Given the description of an element on the screen output the (x, y) to click on. 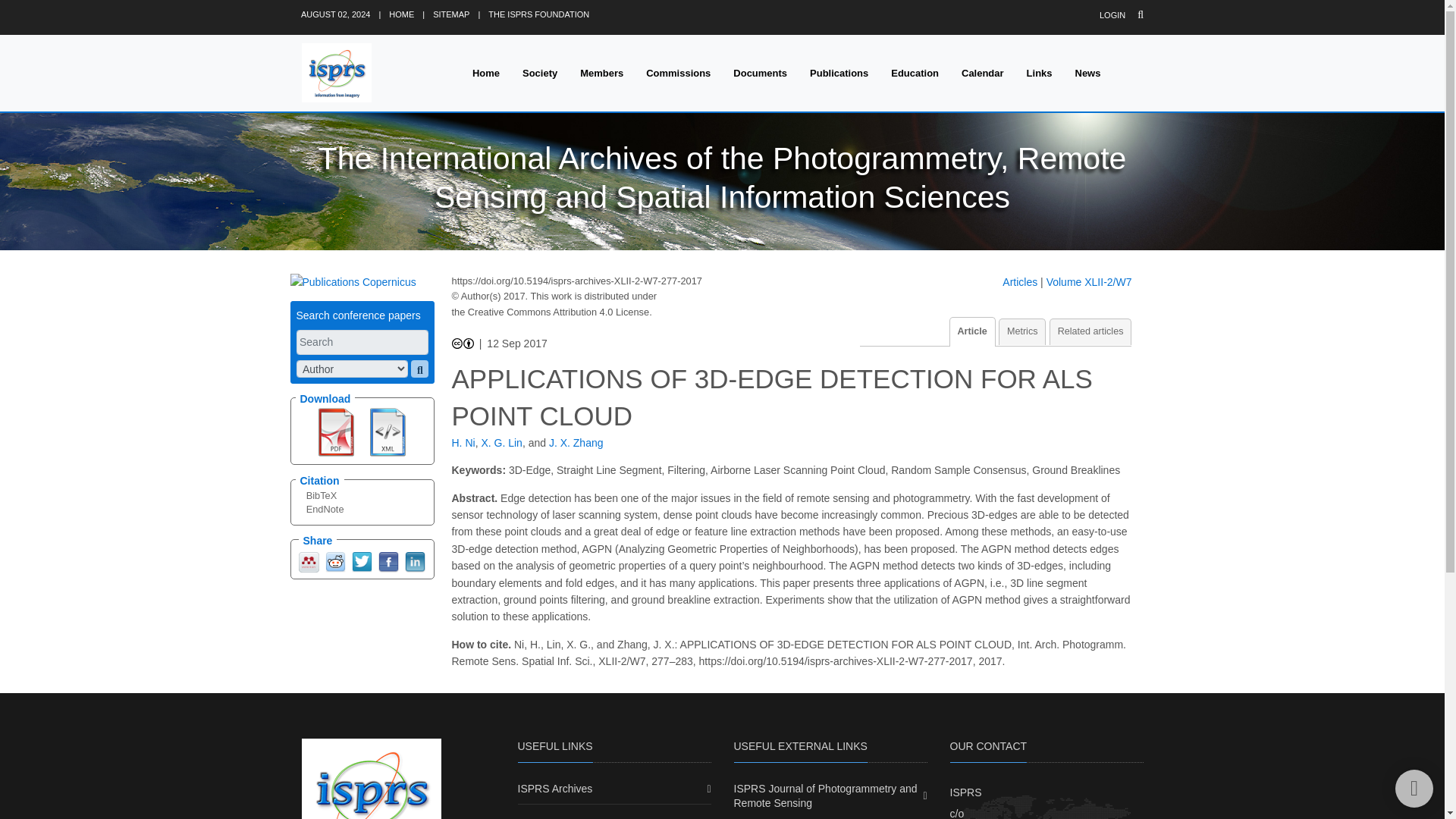
THE ISPRS FOUNDATION (538, 13)
Home (485, 73)
SITEMAP (450, 13)
Society (539, 73)
HOME (400, 13)
LOGIN (1112, 14)
